Given the description of an element on the screen output the (x, y) to click on. 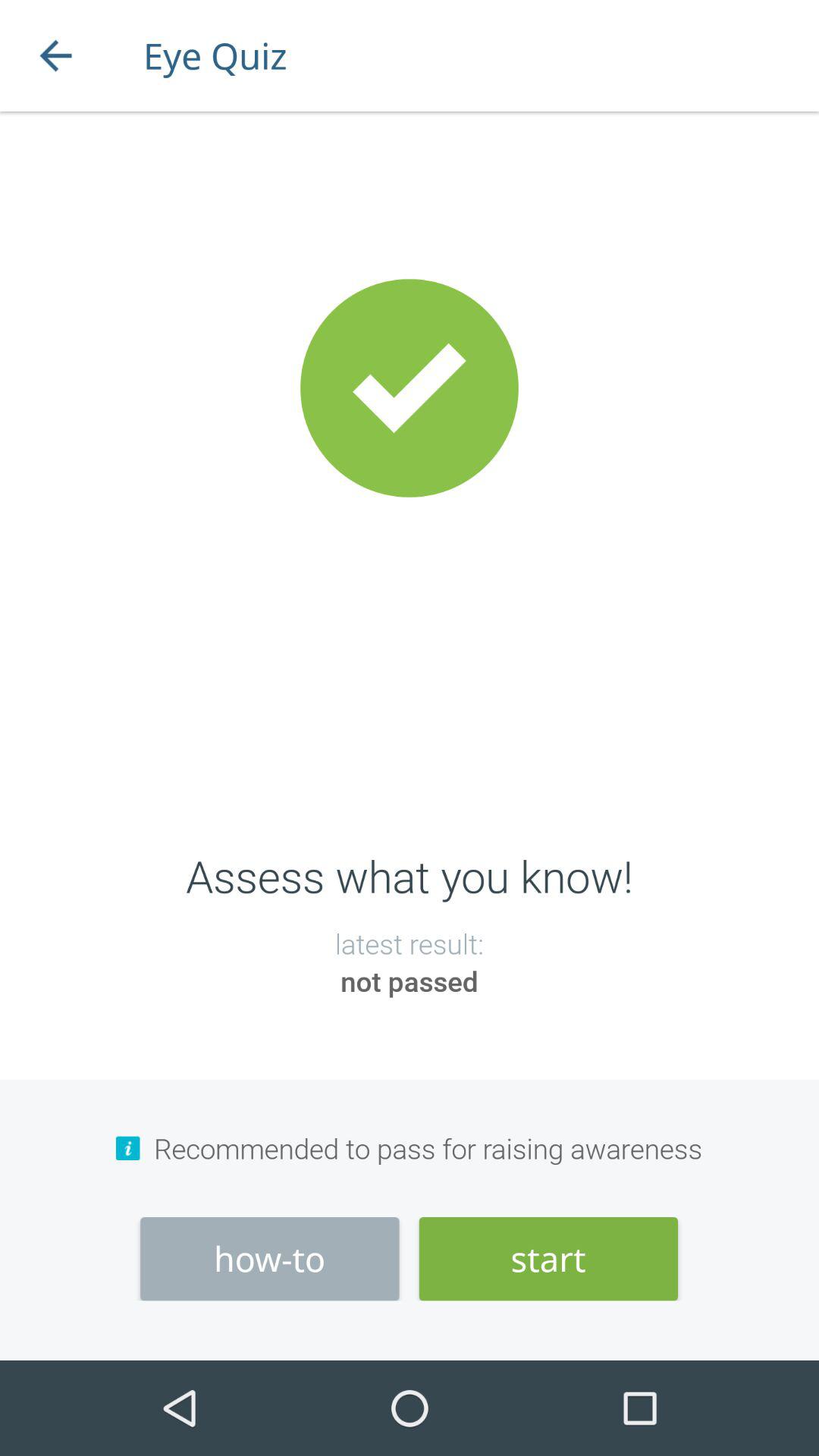
choose the item below the recommended to pass item (269, 1258)
